Given the description of an element on the screen output the (x, y) to click on. 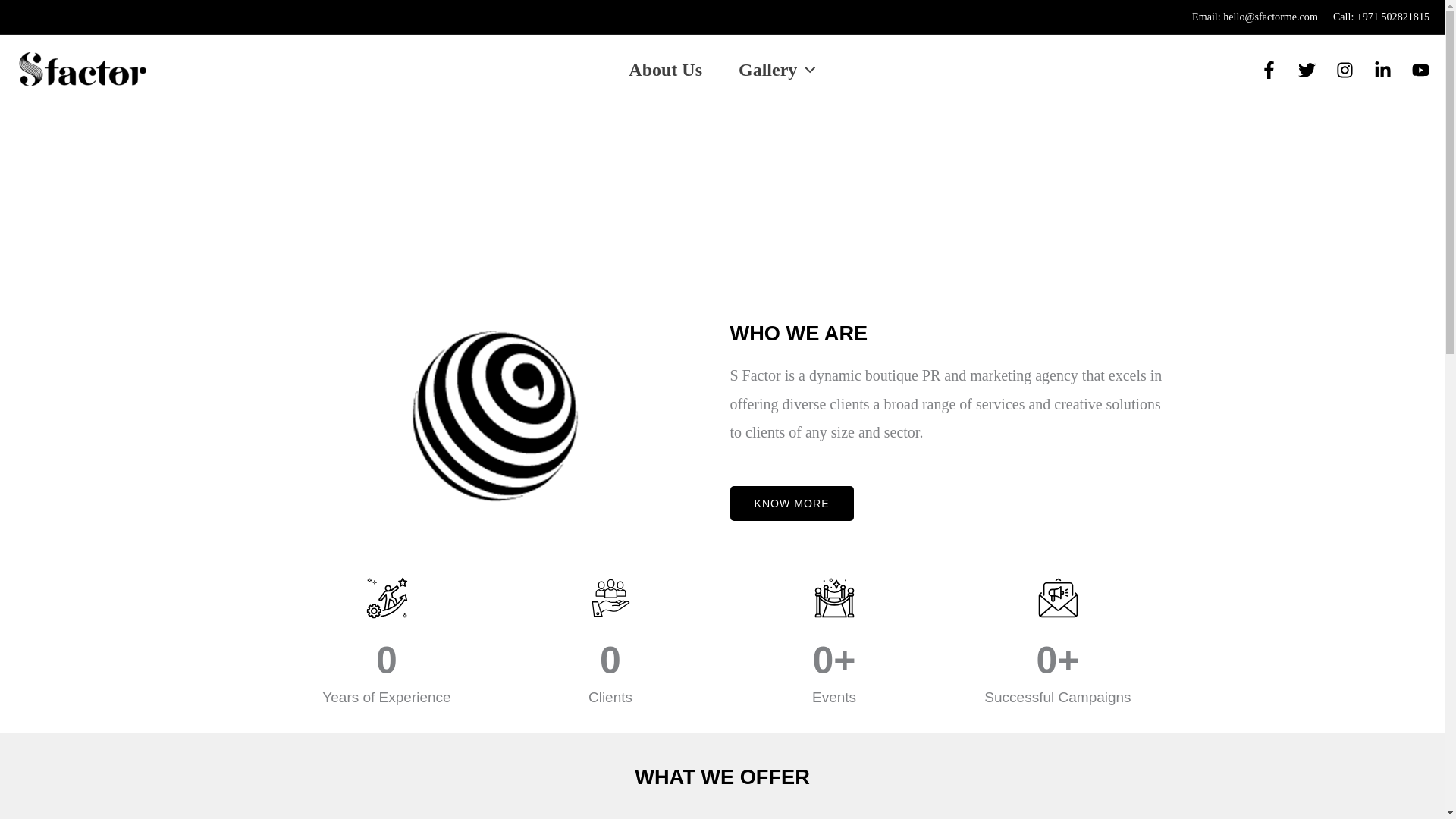
value customers users viewer (610, 598)
About Us (665, 68)
KNOW MORE (791, 503)
Gallery (777, 68)
